Given the description of an element on the screen output the (x, y) to click on. 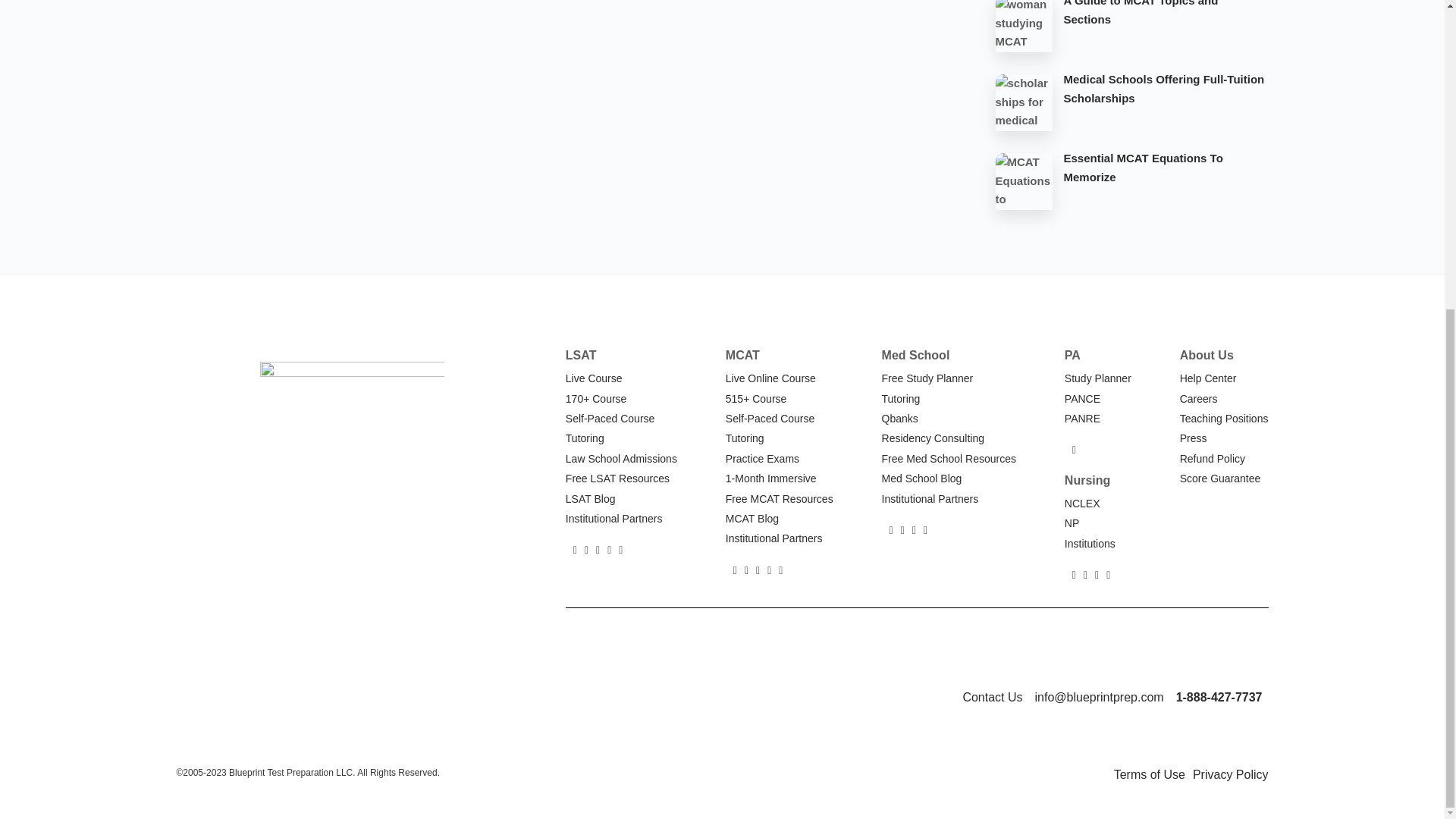
A Guide to MCAT Topics and Sections (1165, 27)
Self-Paced Course (610, 418)
LSAT Blog (590, 499)
LSAT (581, 354)
Tutoring (585, 438)
Medical Schools Offering Full-Tuition Scholarships (1165, 102)
Law School Admissions (621, 458)
Essential MCAT Equations To Memorize (1165, 180)
Free LSAT Resources (617, 478)
Live Course (594, 378)
